Given the description of an element on the screen output the (x, y) to click on. 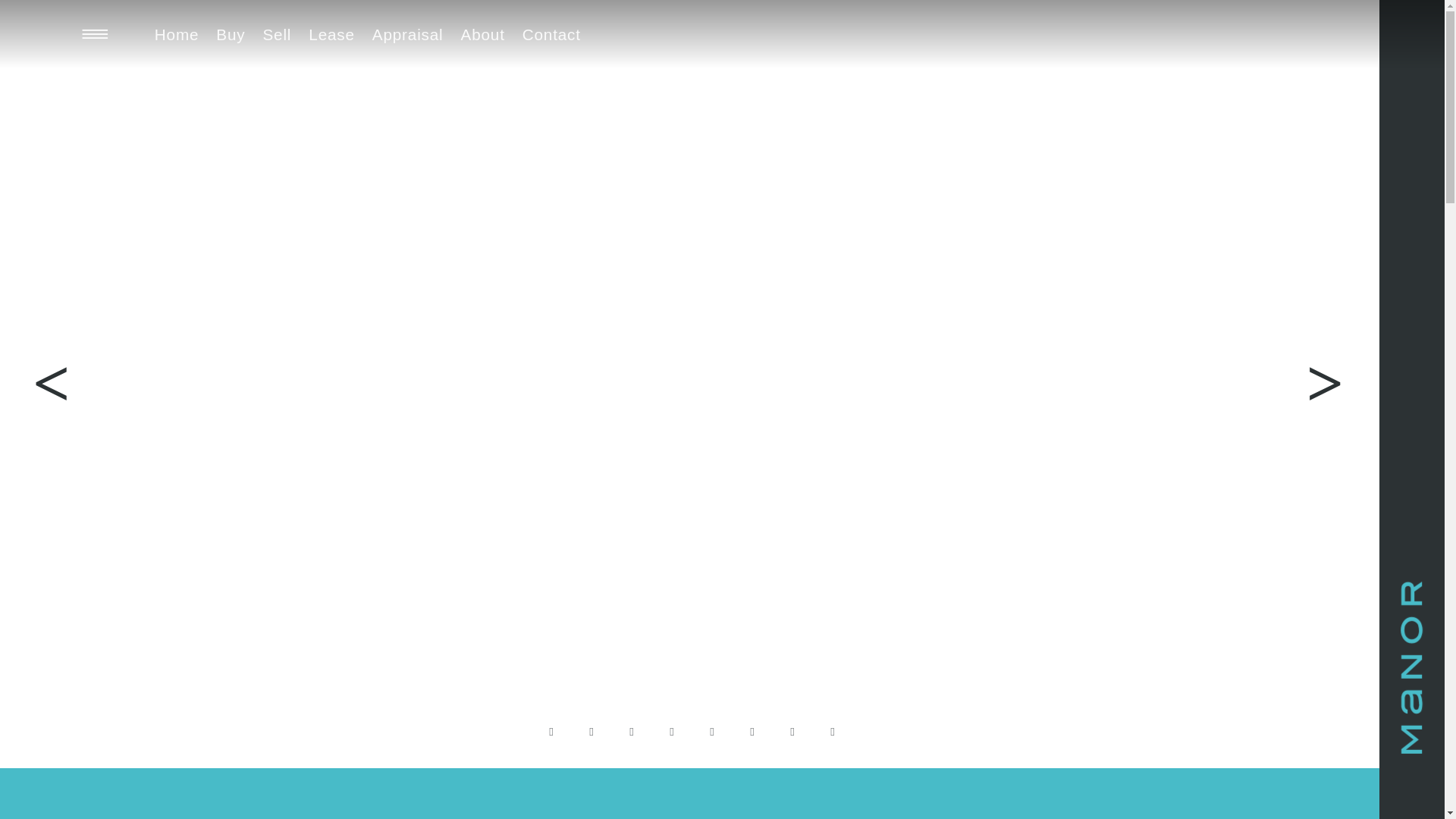
Sell (277, 34)
Appraisal (407, 34)
Contact (551, 34)
Buy (230, 34)
Lease (331, 34)
About (483, 34)
Send Message (722, 449)
Home (177, 34)
